Given the description of an element on the screen output the (x, y) to click on. 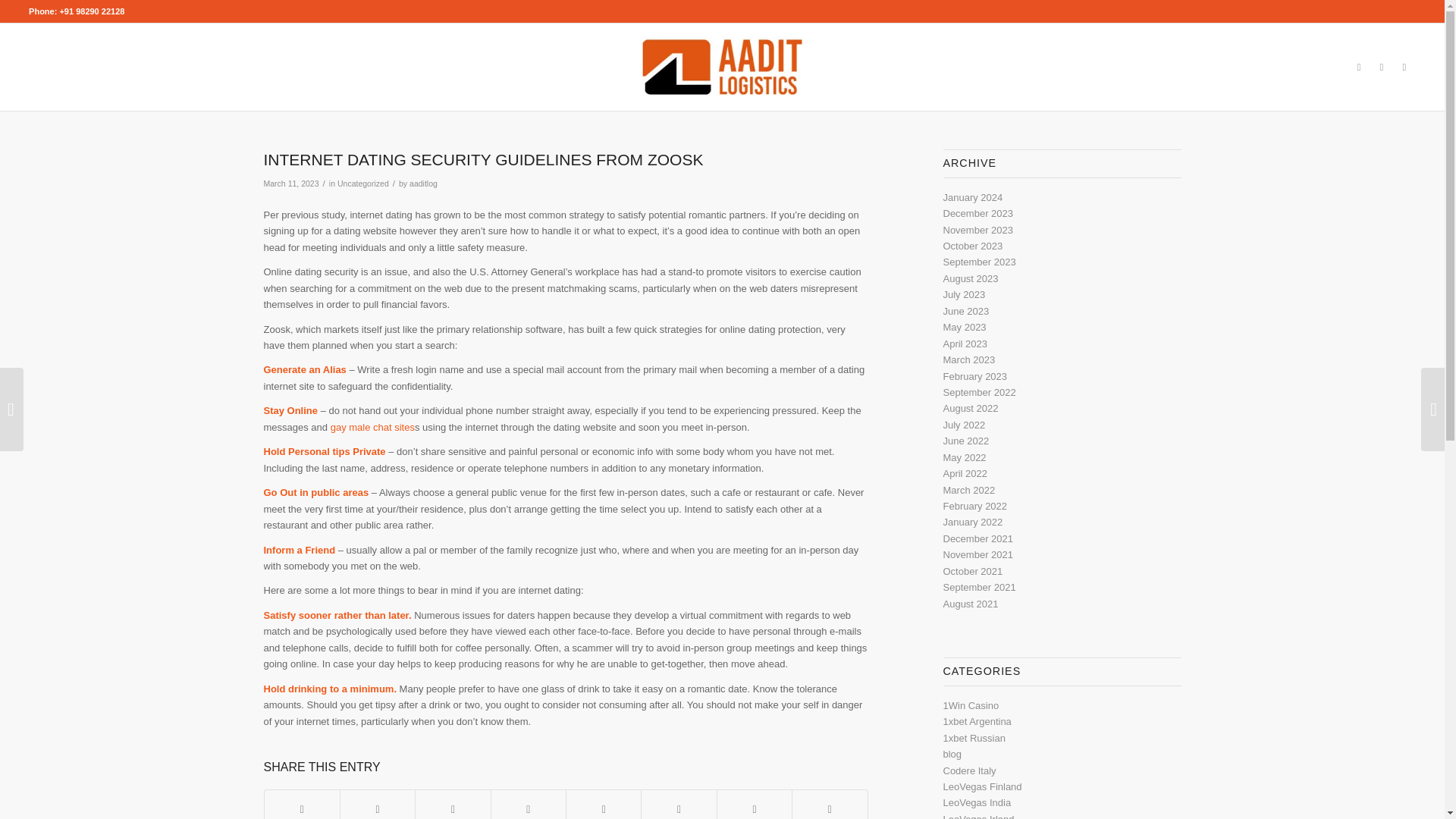
November 2023 (978, 229)
August 2022 (970, 408)
December 2023 (978, 213)
October 2023 (973, 245)
aaditlog (423, 183)
May 2023 (965, 326)
March 2022 (969, 490)
Facebook (1359, 67)
September 2023 (979, 261)
Instagram (1381, 67)
